Given the description of an element on the screen output the (x, y) to click on. 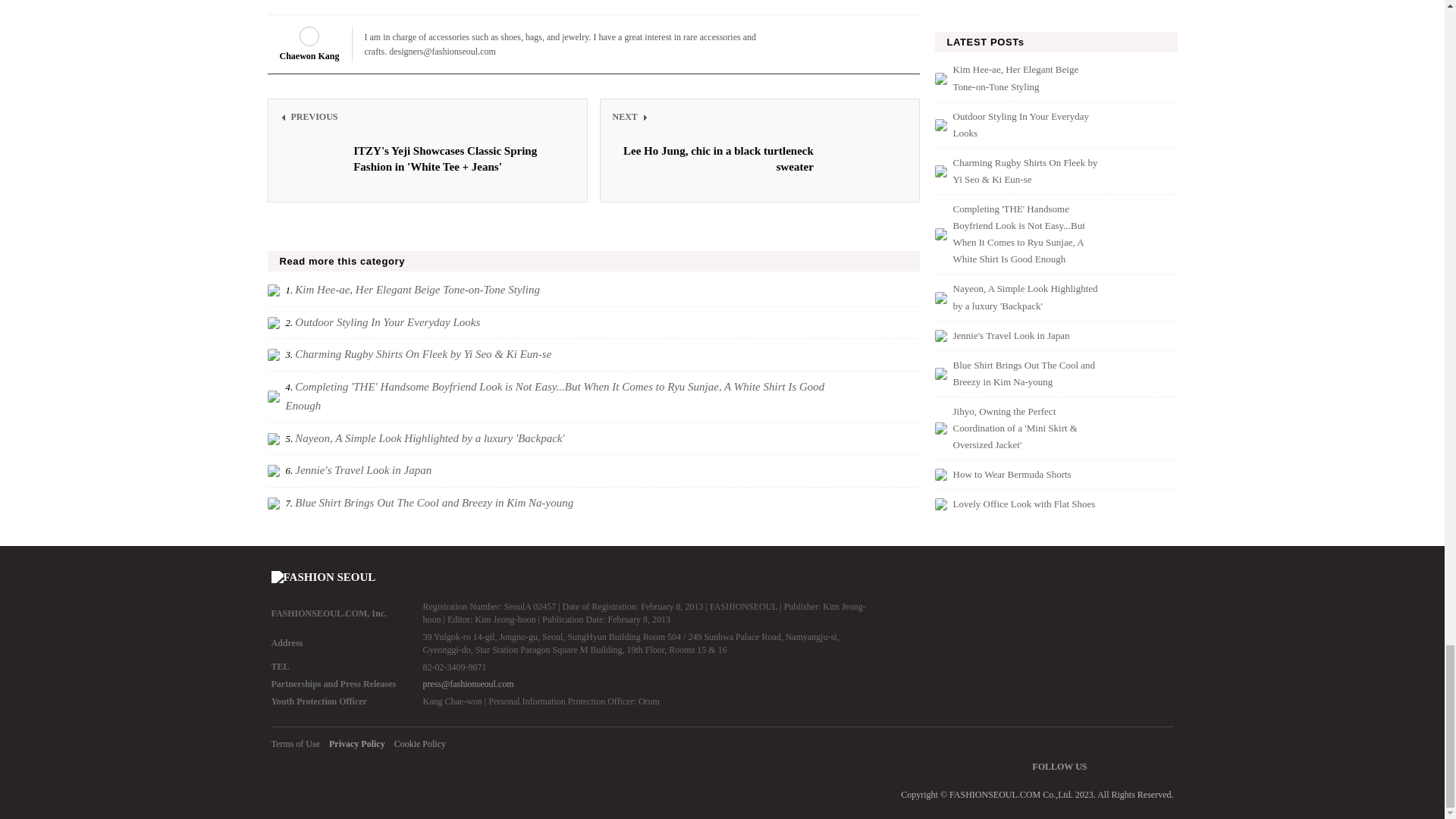
5. Nayeon, A Simple Look Highlighted by a luxury 'Backpack' (592, 438)
facebook (1118, 766)
twitter (1139, 766)
1. Kim Hee-ae, Her Elegant Beige Tone-on-Tone Styling (592, 290)
2. Outdoor Styling In Your Everyday Looks (759, 150)
instagram (592, 322)
7. Blue Shirt Brings Out The Cool and Breezy in Kim Na-young (1160, 766)
6. Jennie's Travel Look in Japan (592, 503)
